Given the description of an element on the screen output the (x, y) to click on. 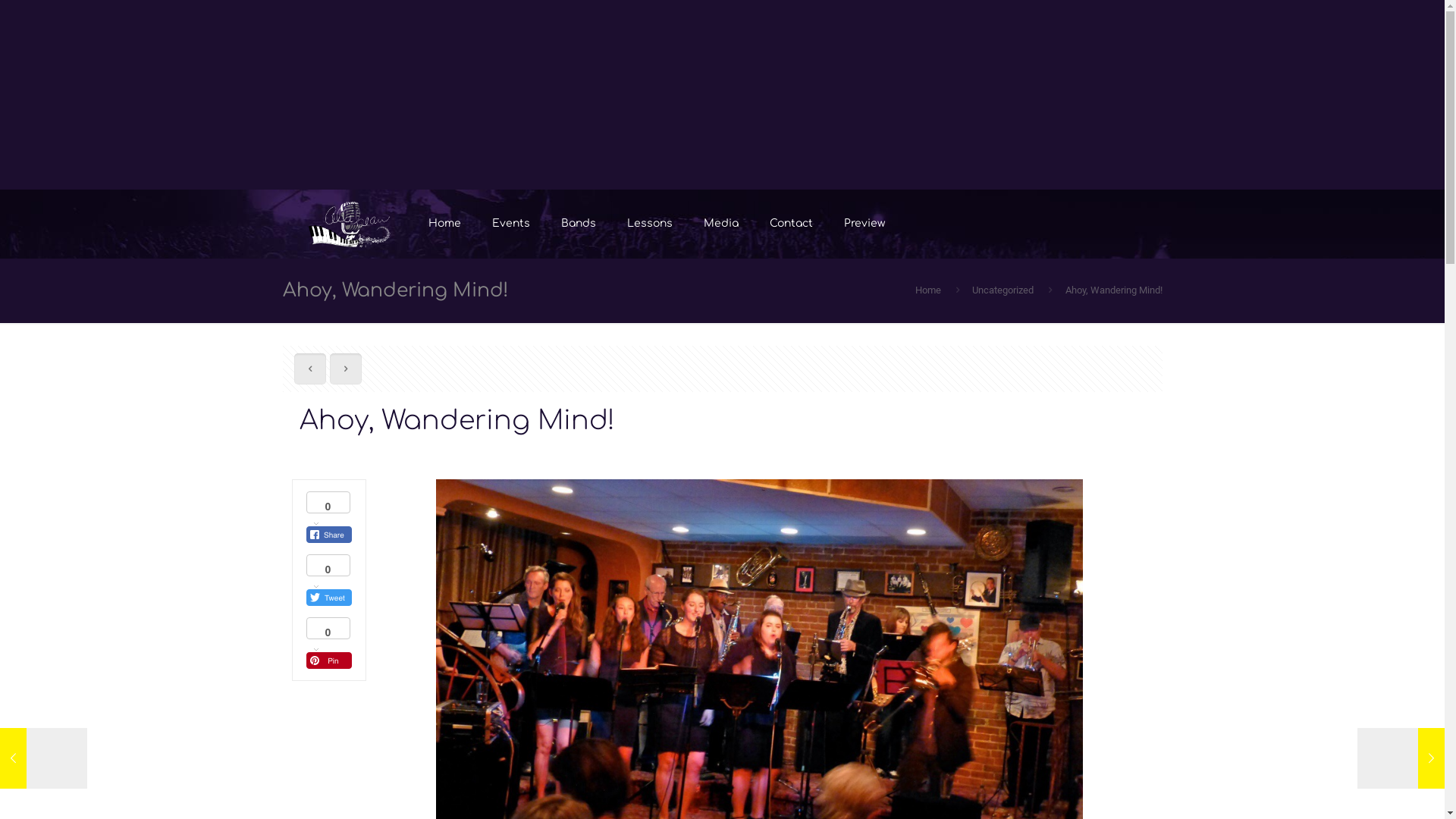
Preview Element type: text (864, 223)
Home Element type: text (928, 289)
Events Element type: text (511, 223)
Contact Element type: text (791, 223)
Media Element type: text (721, 223)
Bands Element type: text (578, 223)
Alli Bean - Vocalist/Pianist/Bandleader/Instructor Element type: hover (348, 223)
Home Element type: text (444, 223)
Uncategorized Element type: text (1002, 289)
Lessons Element type: text (649, 223)
